Given the description of an element on the screen output the (x, y) to click on. 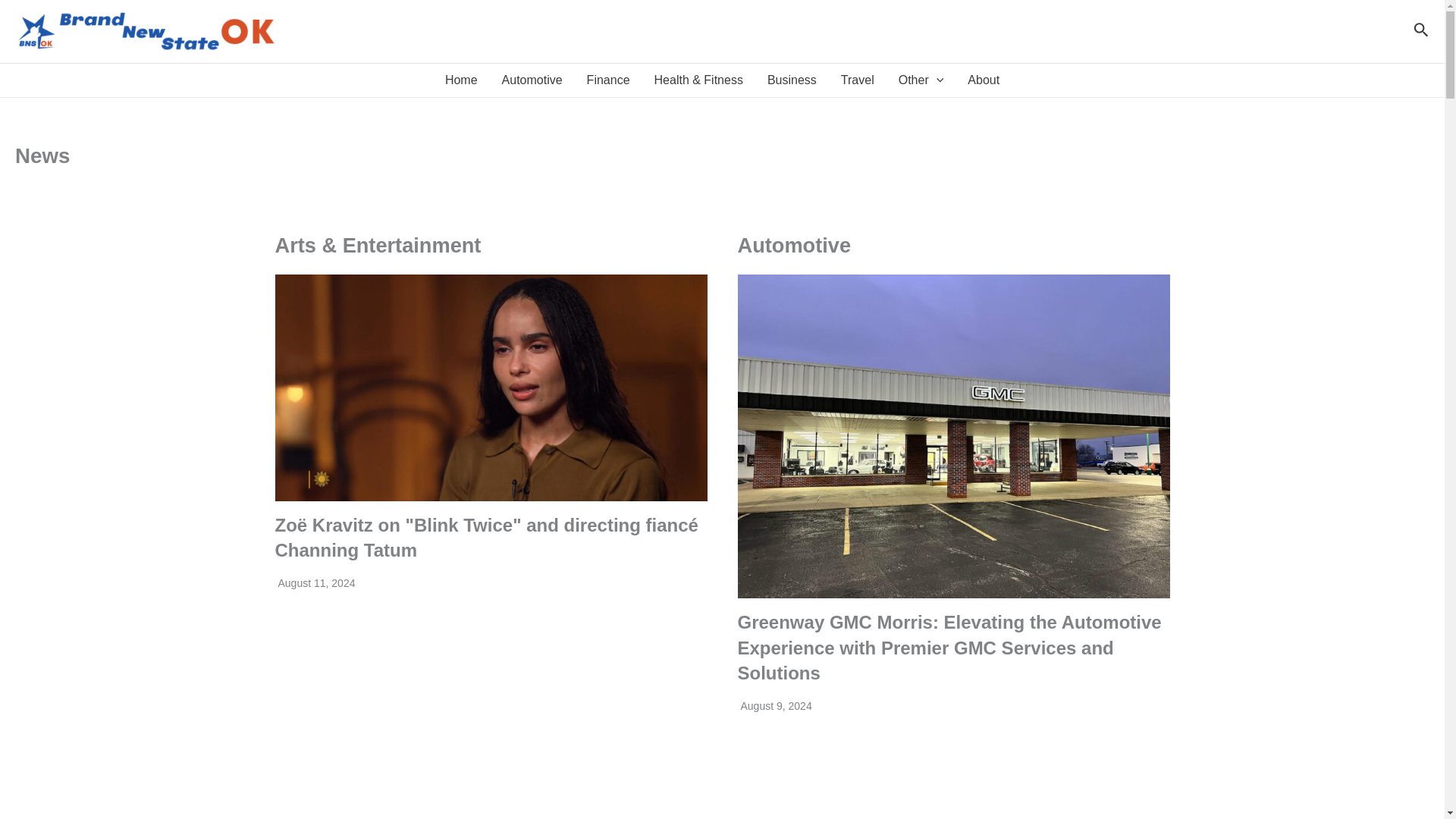
Home (460, 80)
Business (791, 80)
Other (921, 80)
Finance (608, 80)
Travel (857, 80)
About (983, 80)
Automotive (532, 80)
